Given the description of an element on the screen output the (x, y) to click on. 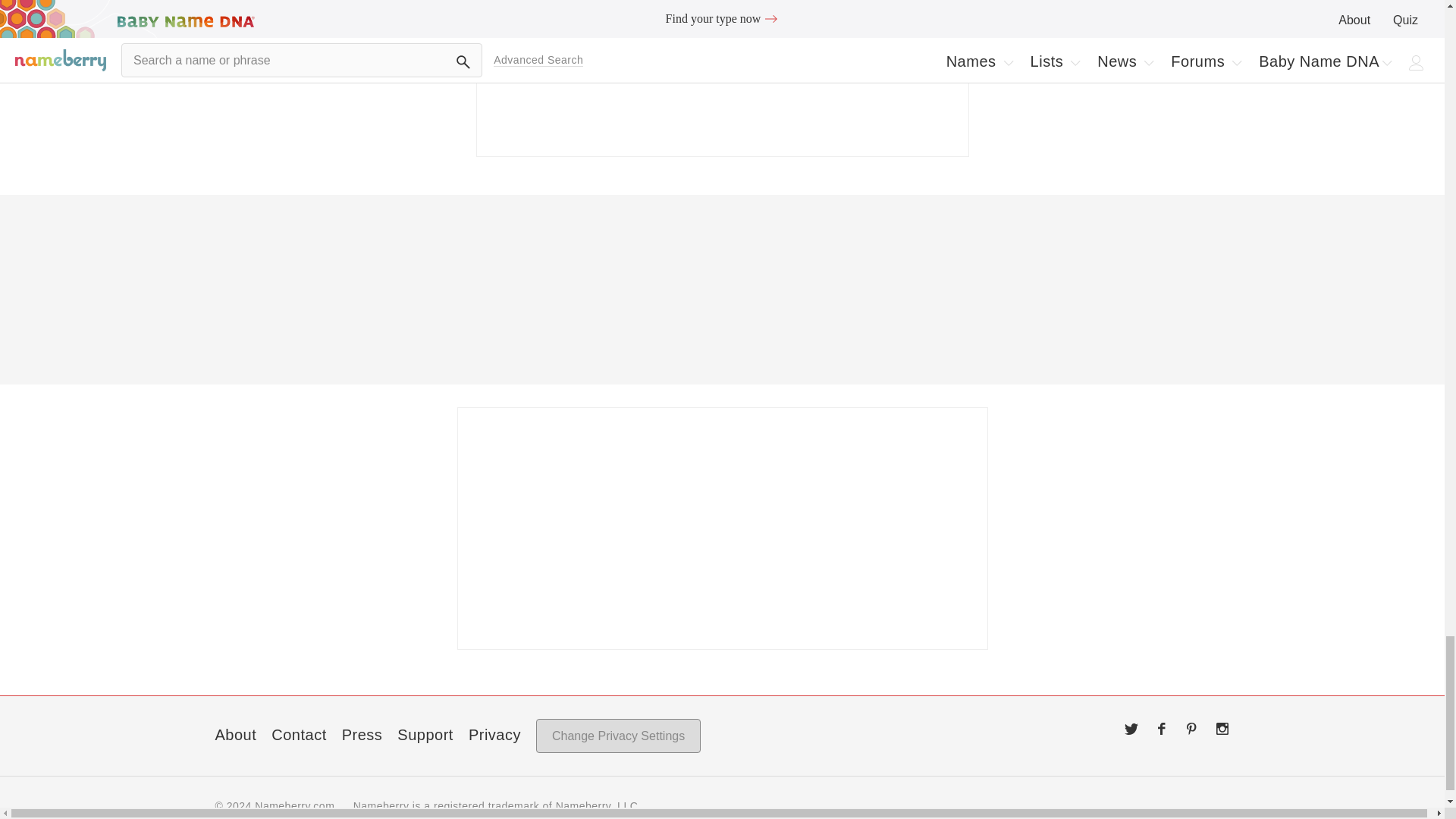
Sign up for the Nameberry Newsletter (722, 528)
Sign up for the Nameberry Newsletter (722, 78)
Twitter (1131, 728)
Instagram (1222, 728)
Facebook (1161, 728)
Pinterest (1192, 728)
